Given the description of an element on the screen output the (x, y) to click on. 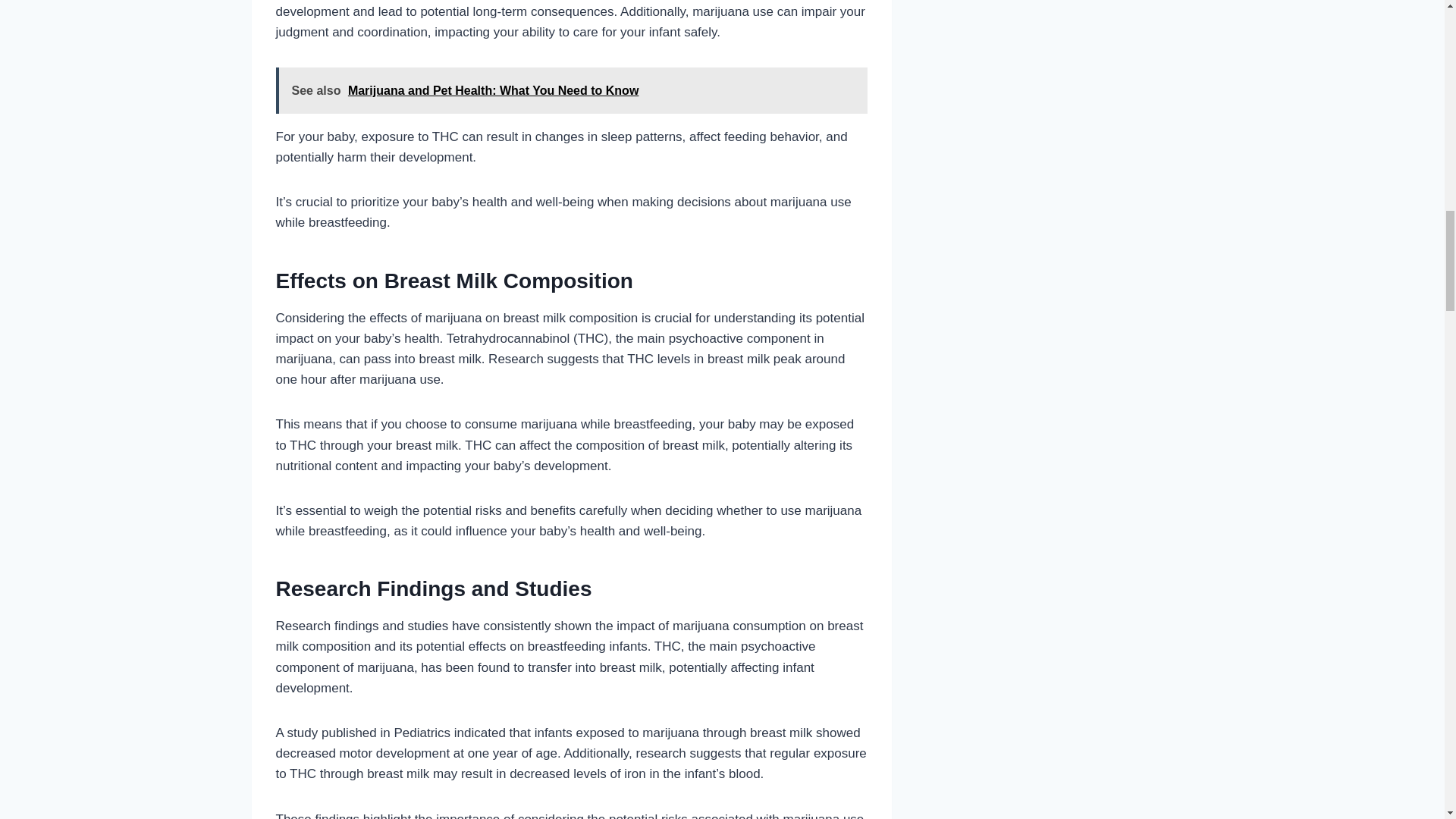
See also  Marijuana and Pet Health: What You Need to Know (571, 90)
